Given the description of an element on the screen output the (x, y) to click on. 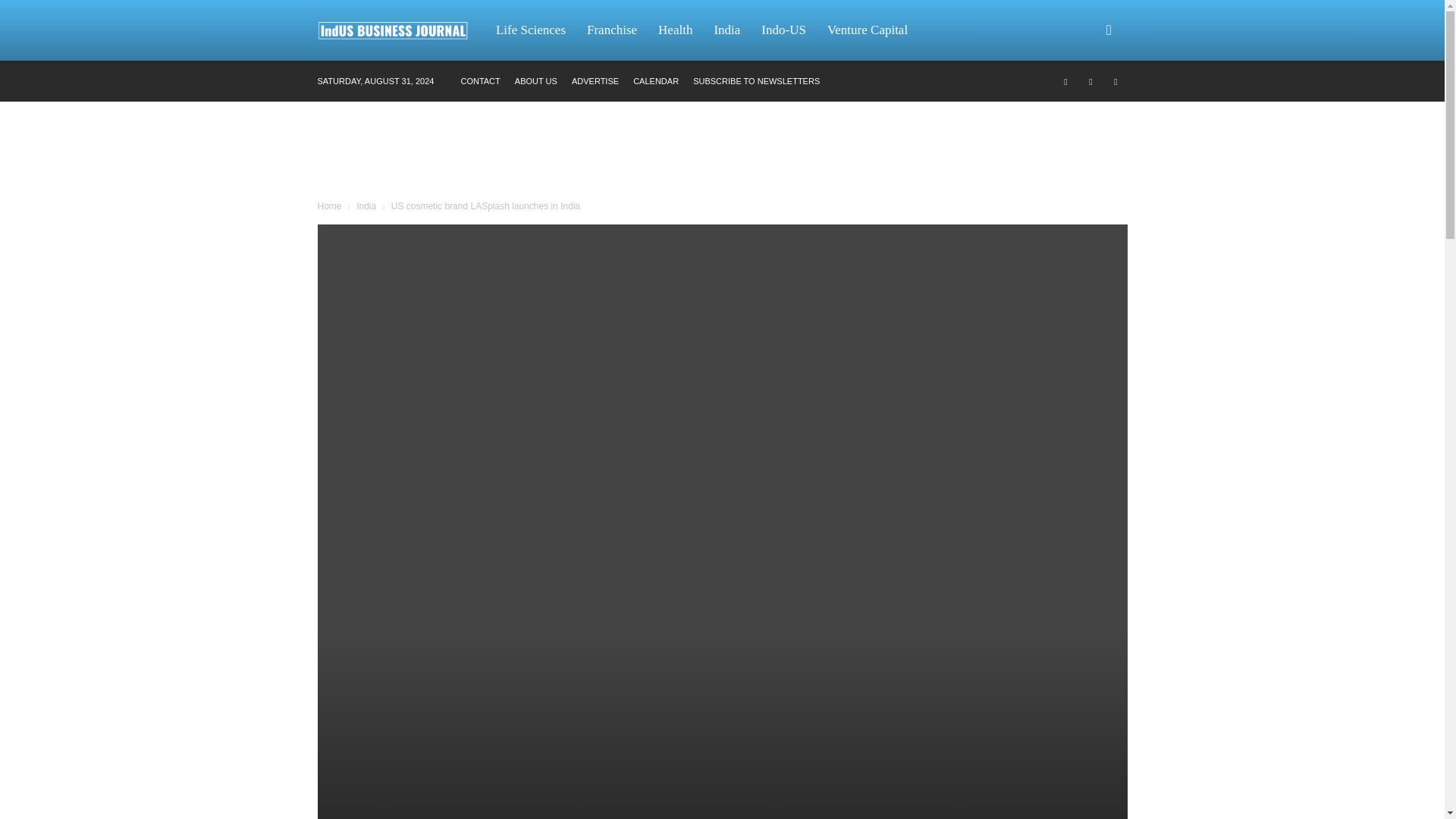
Search (1085, 102)
Franchise (611, 30)
Venture Capital (867, 30)
ABOUT US (536, 80)
ADVERTISE (595, 80)
SUBSCRIBE TO NEWSLETTERS (756, 80)
CONTACT (479, 80)
Health (675, 30)
Life Sciences (530, 30)
Indo-US (783, 30)
